Given the description of an element on the screen output the (x, y) to click on. 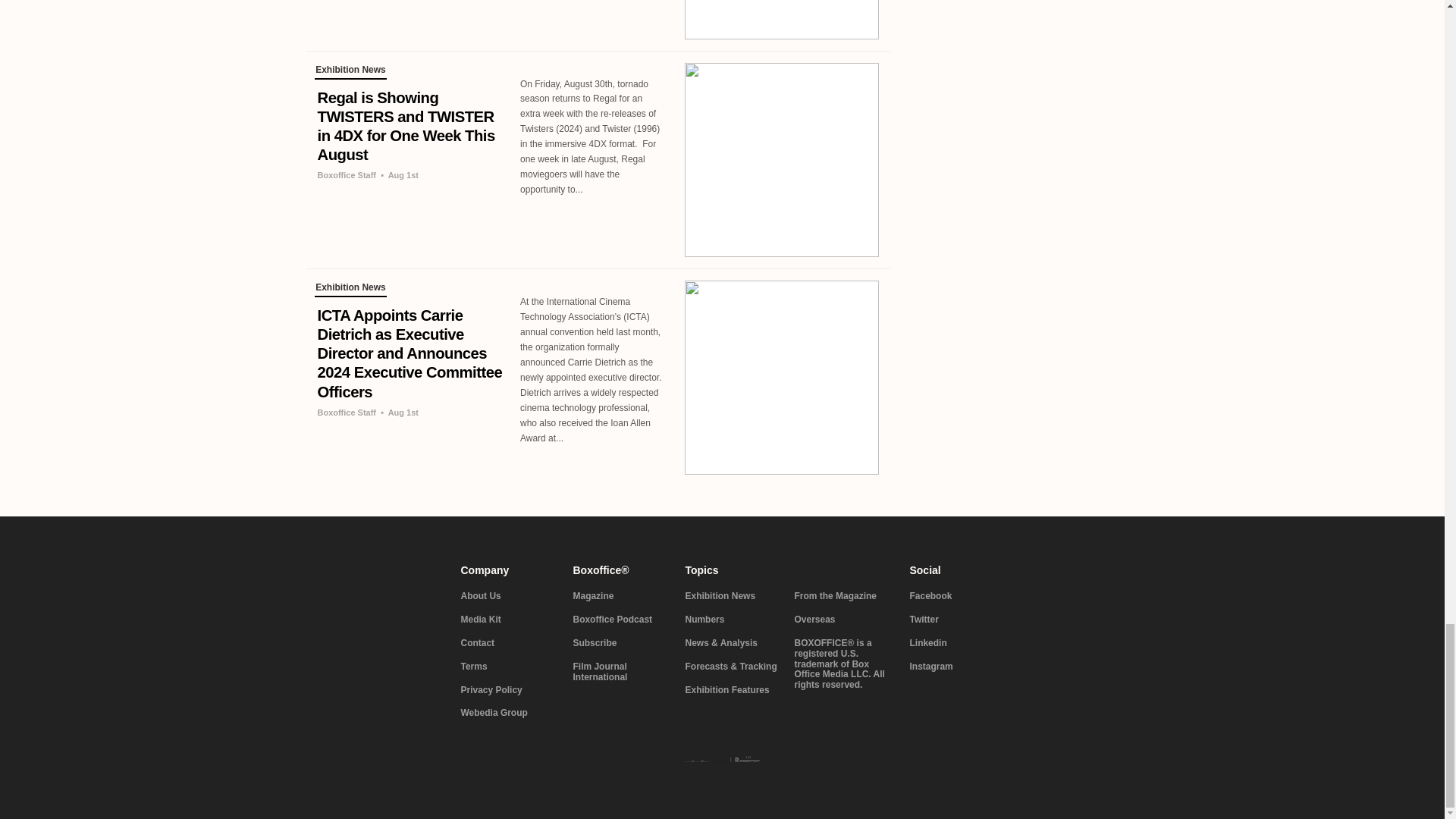
Privacy Policy (508, 690)
Exhibition News (349, 71)
Company (508, 570)
Boxoffice Podcast (620, 620)
Subscribe (620, 643)
Media Kit (508, 620)
Webedia Group (508, 713)
Contact (508, 643)
Magazine (620, 596)
Terms (508, 666)
Exhibition News (349, 289)
About Us (508, 596)
Film Journal International (620, 672)
